Given the description of an element on the screen output the (x, y) to click on. 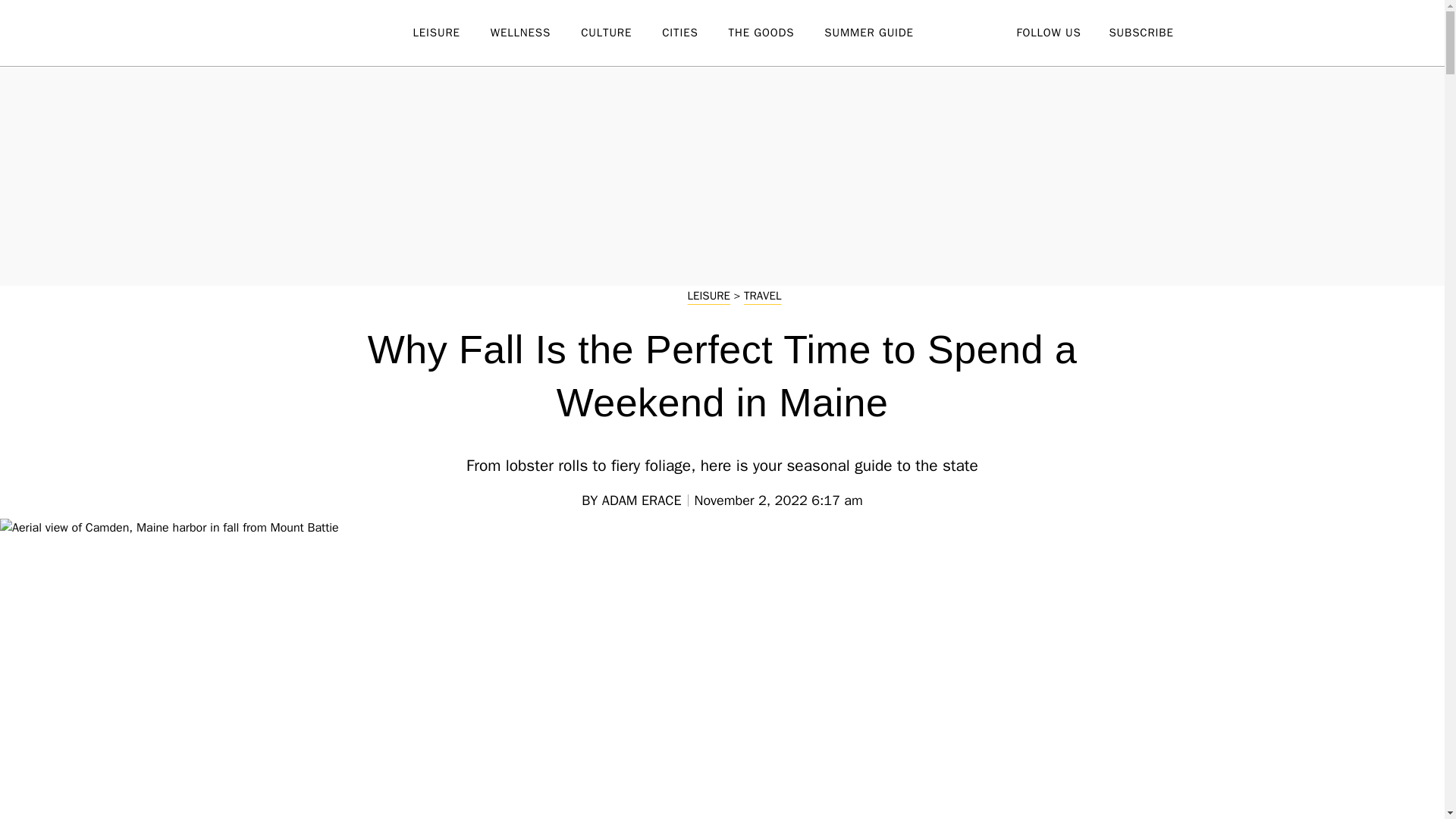
FOLLOW US (1048, 32)
SUMMER GUIDE (883, 32)
WELLNESS (535, 32)
THE GOODS (777, 32)
LEISURE (450, 32)
CULTURE (621, 32)
CITIES (695, 32)
SUBSCRIBE (1140, 32)
